Given the description of an element on the screen output the (x, y) to click on. 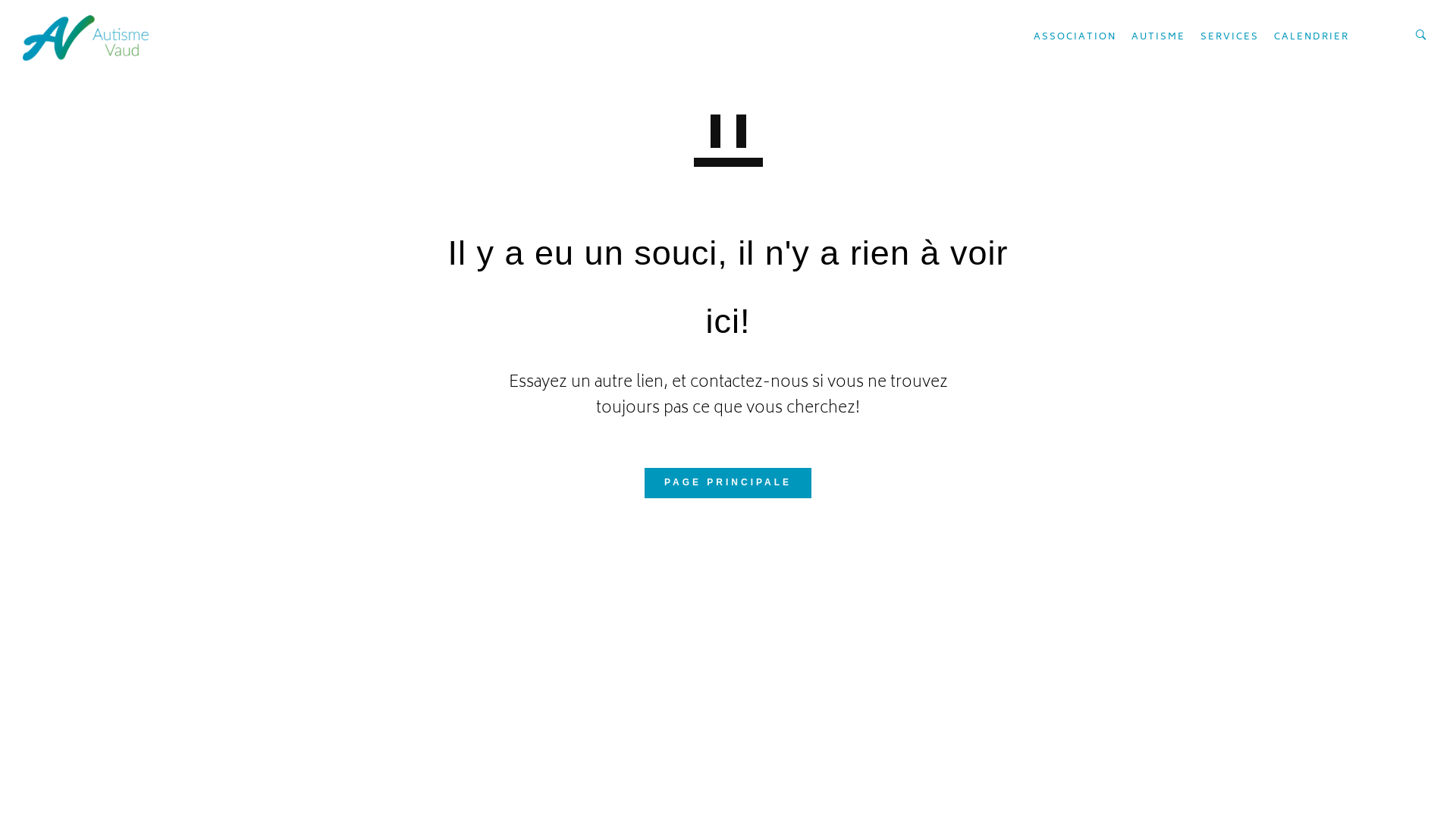
Search Element type: text (25, 12)
AUTISME Element type: text (1157, 37)
SERVICES Element type: text (1229, 37)
CALENDRIER Element type: text (1311, 37)
PAGE PRINCIPALE Element type: text (727, 482)
ASSOCIATION Element type: text (1074, 37)
